Given the description of an element on the screen output the (x, y) to click on. 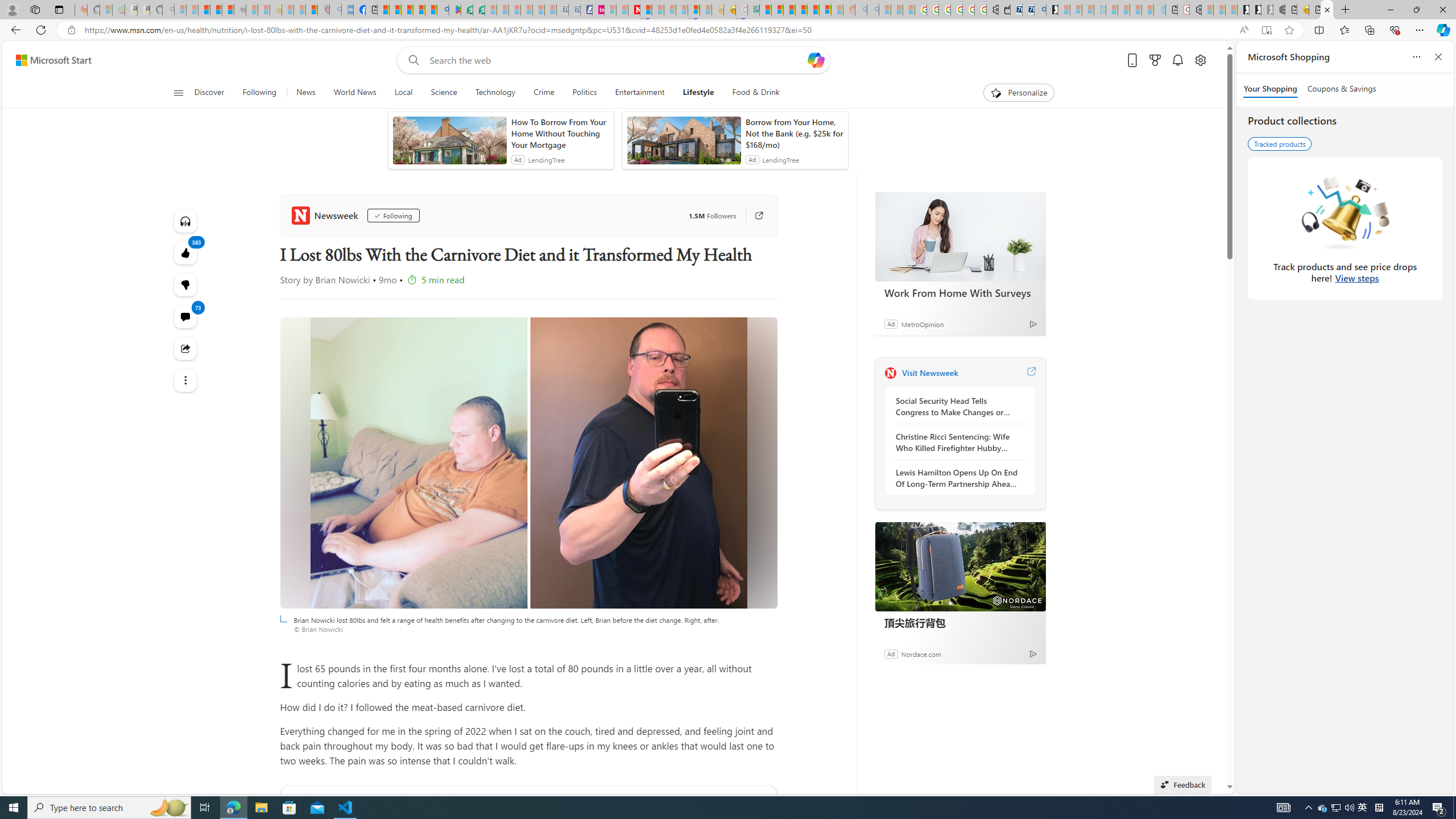
Trusted Community Engagement and Contributions | Guidelines (645, 9)
Cheap Car Rentals - Save70.com - Sleeping (562, 9)
Personal Profile (12, 9)
Add this page to favorites (Ctrl+D) (1289, 29)
Combat Siege (239, 9)
Work From Home With Surveys (959, 292)
Class: at-item (184, 380)
Settings and more (Alt+F) (1419, 29)
Wallet (1003, 9)
Local (403, 92)
Borrow from Your Home, Not the Bank (e.g. $25k for $168/mo) (794, 133)
